Given the description of an element on the screen output the (x, y) to click on. 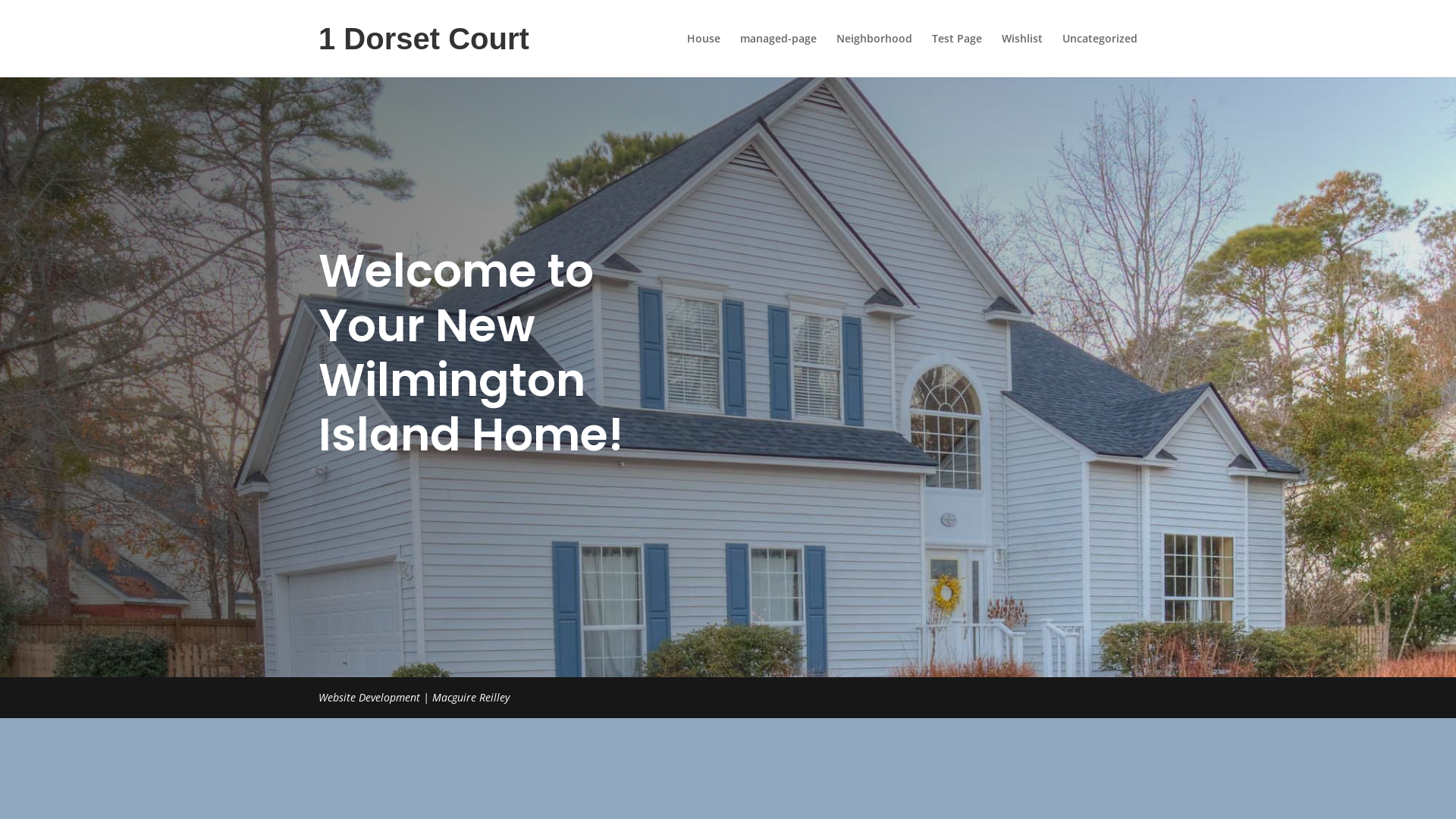
1 Dorset Court Element type: text (423, 50)
House Element type: text (703, 55)
Test Page Element type: text (956, 55)
Wishlist Element type: text (1021, 55)
Uncategorized Element type: text (1099, 55)
managed-page Element type: text (778, 55)
Neighborhood Element type: text (874, 55)
